Given the description of an element on the screen output the (x, y) to click on. 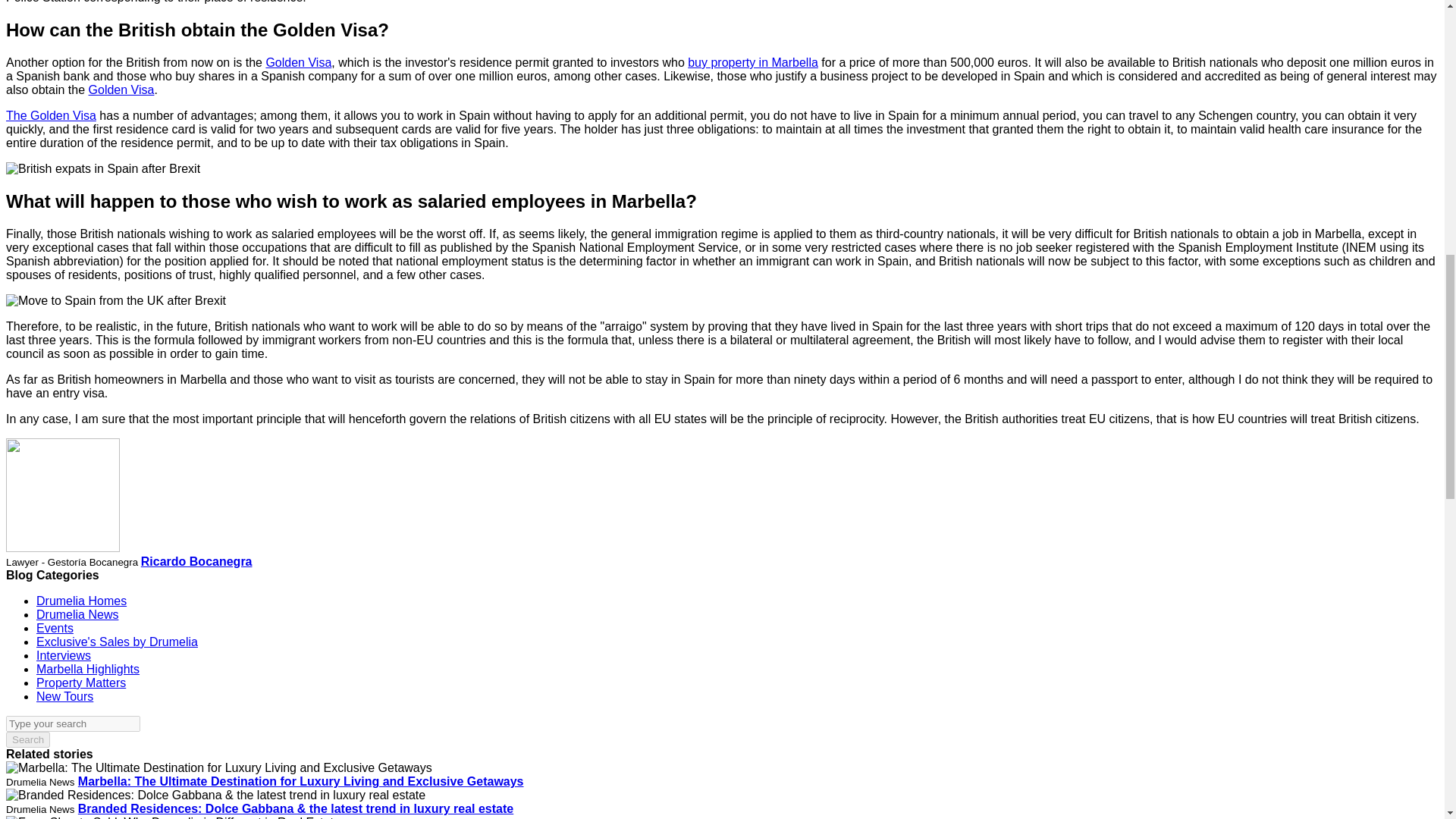
buy property in Marbella (752, 62)
Drumelia Homes (81, 600)
Events (55, 627)
New Tours (64, 696)
Search (27, 739)
Golden Visa (121, 89)
Interviews (63, 655)
Exclusive's Sales by Drumelia (117, 641)
Golden Visa (297, 62)
Drumelia News (76, 614)
The Golden Visa (50, 115)
Property Matters (80, 682)
Ricardo Bocanegra (196, 561)
Marbella Highlights (87, 668)
